Given the description of an element on the screen output the (x, y) to click on. 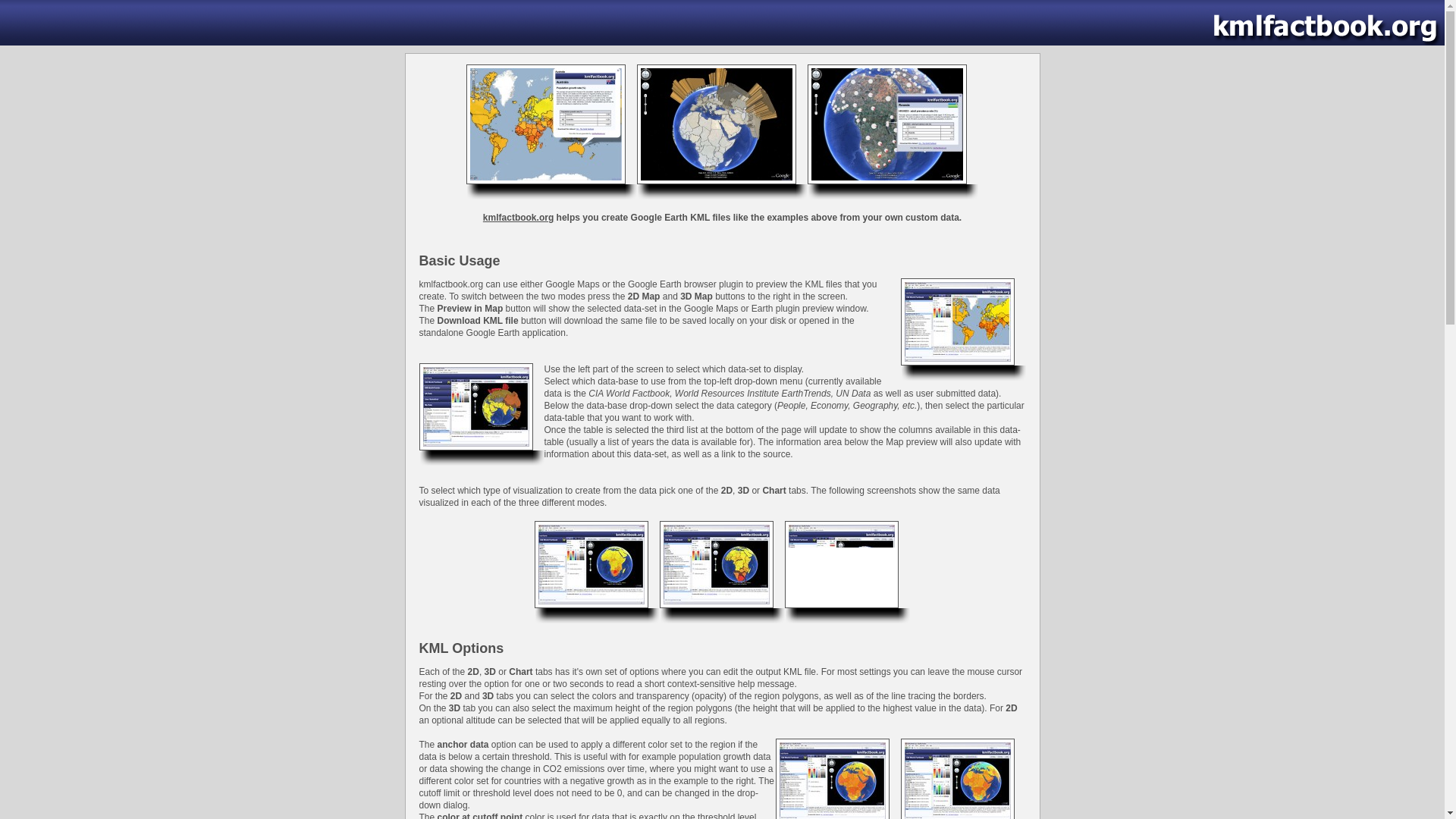
kmlfactbook.org (518, 217)
